Given the description of an element on the screen output the (x, y) to click on. 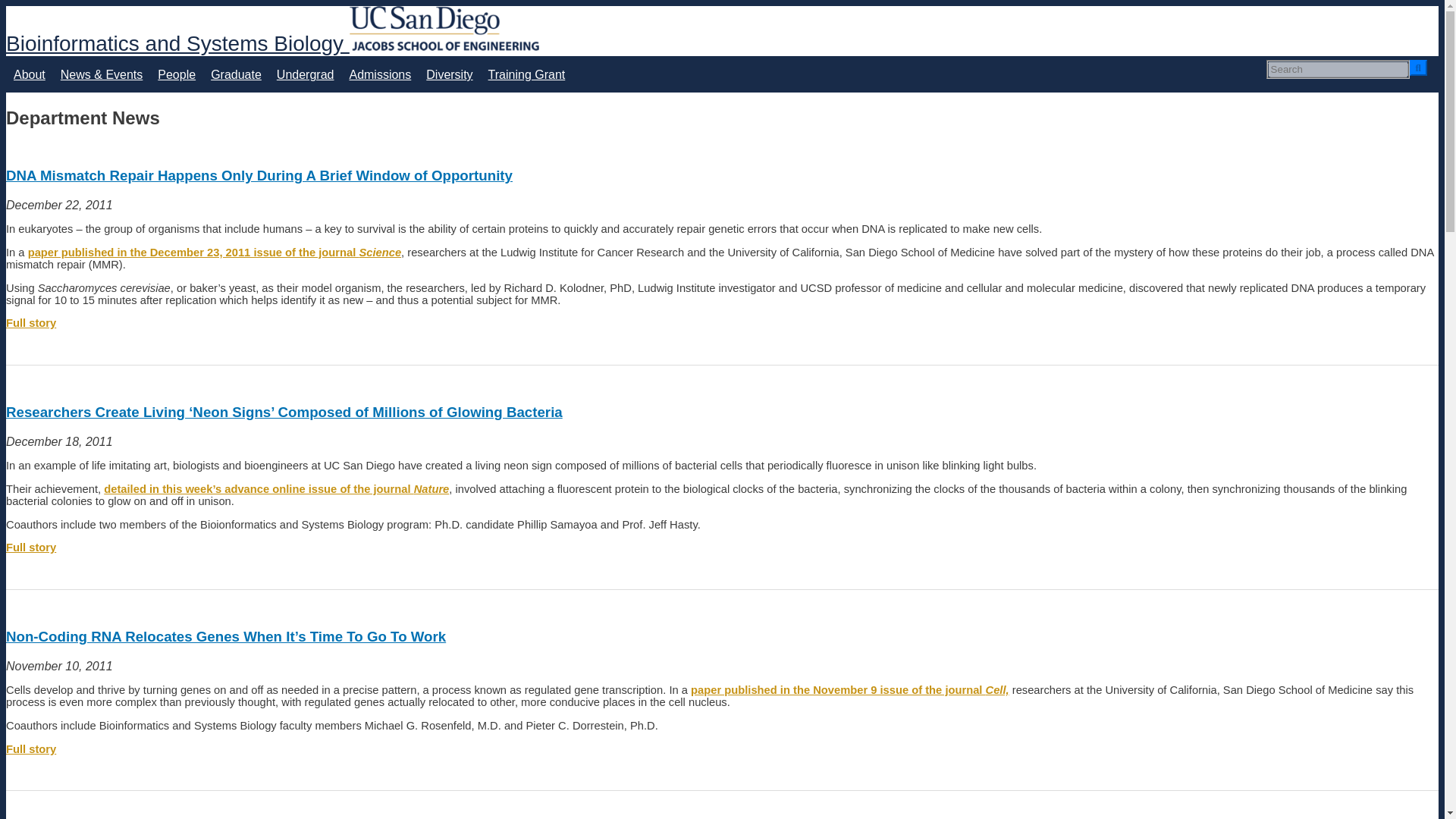
Bioinformatics and Systems Biology (177, 43)
Skip to main content (722, 7)
People (176, 74)
Enter the terms you wish to search for. (1337, 68)
About (28, 74)
Graduate (236, 74)
Home (177, 43)
